Given the description of an element on the screen output the (x, y) to click on. 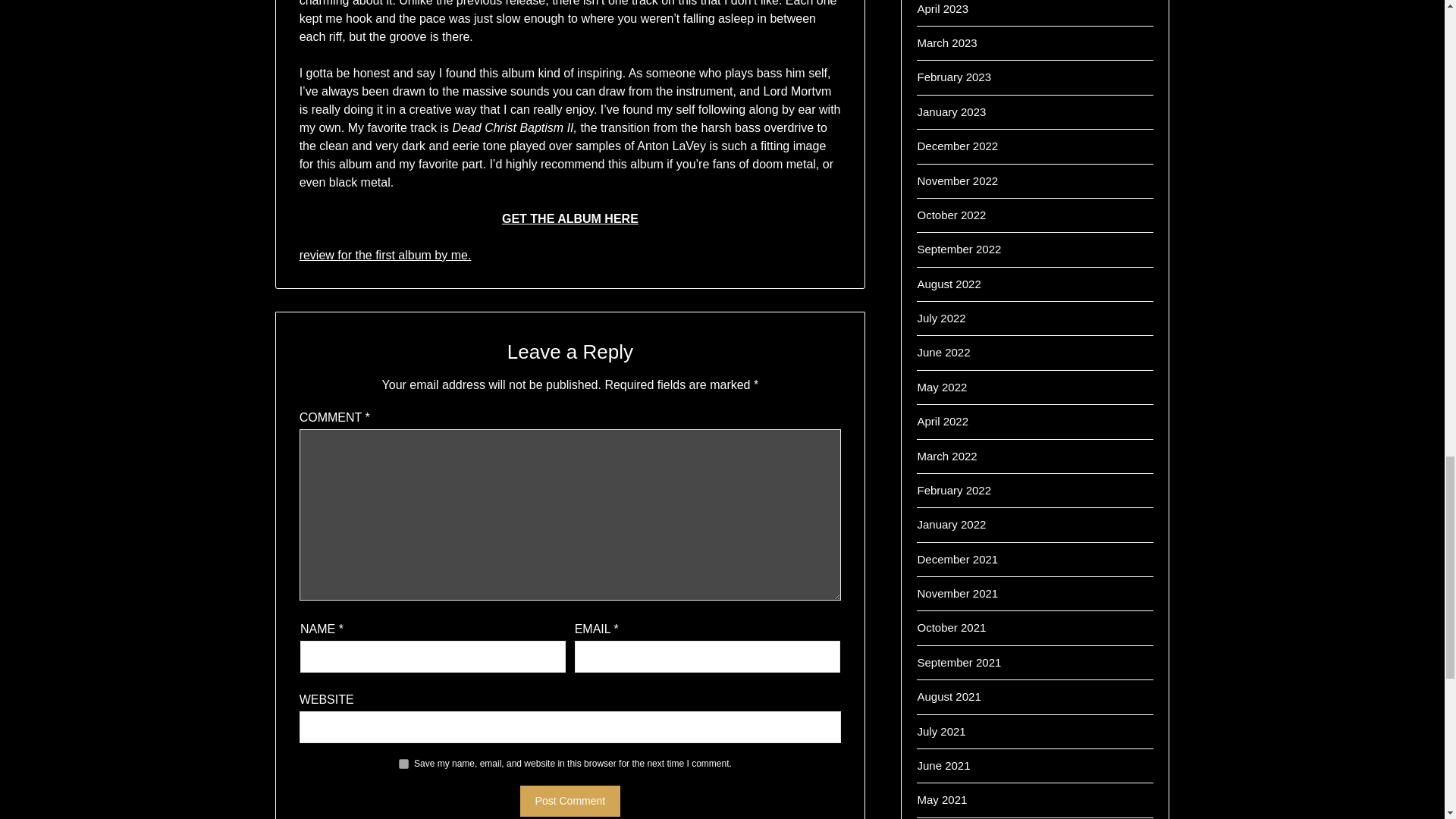
GET THE ALBUM HERE (570, 218)
Post Comment (570, 800)
yes (403, 764)
Post Comment (570, 800)
review for the first album by me. (385, 254)
